Given the description of an element on the screen output the (x, y) to click on. 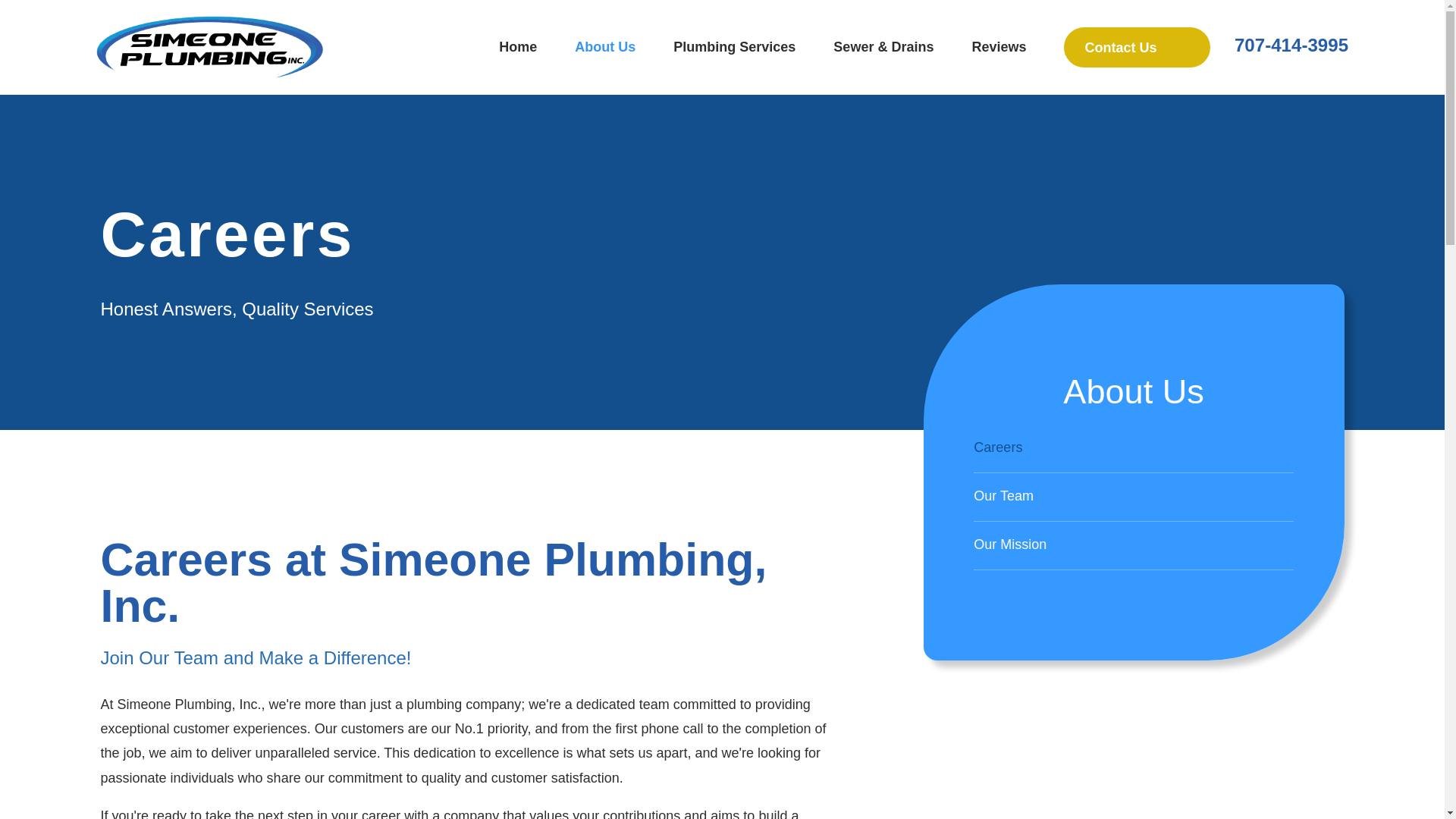
Reviews (998, 47)
About Us (604, 47)
Home (209, 46)
Plumbing Services (733, 47)
